Given the description of an element on the screen output the (x, y) to click on. 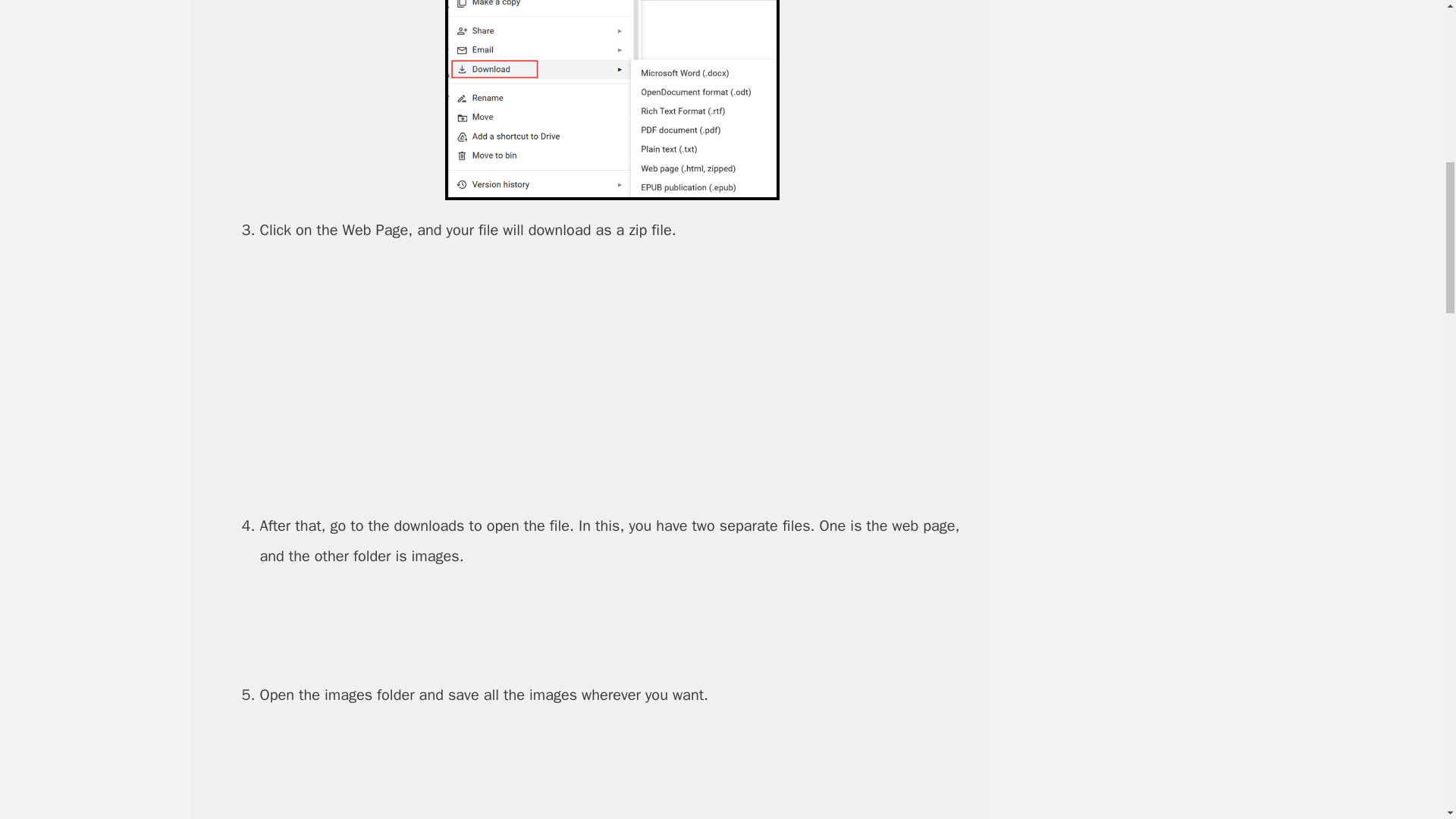
elect-web-page (611, 378)
pen-all-images (611, 772)
lick-image-then-download (611, 99)
pen-zipp-folder (611, 626)
